Given the description of an element on the screen output the (x, y) to click on. 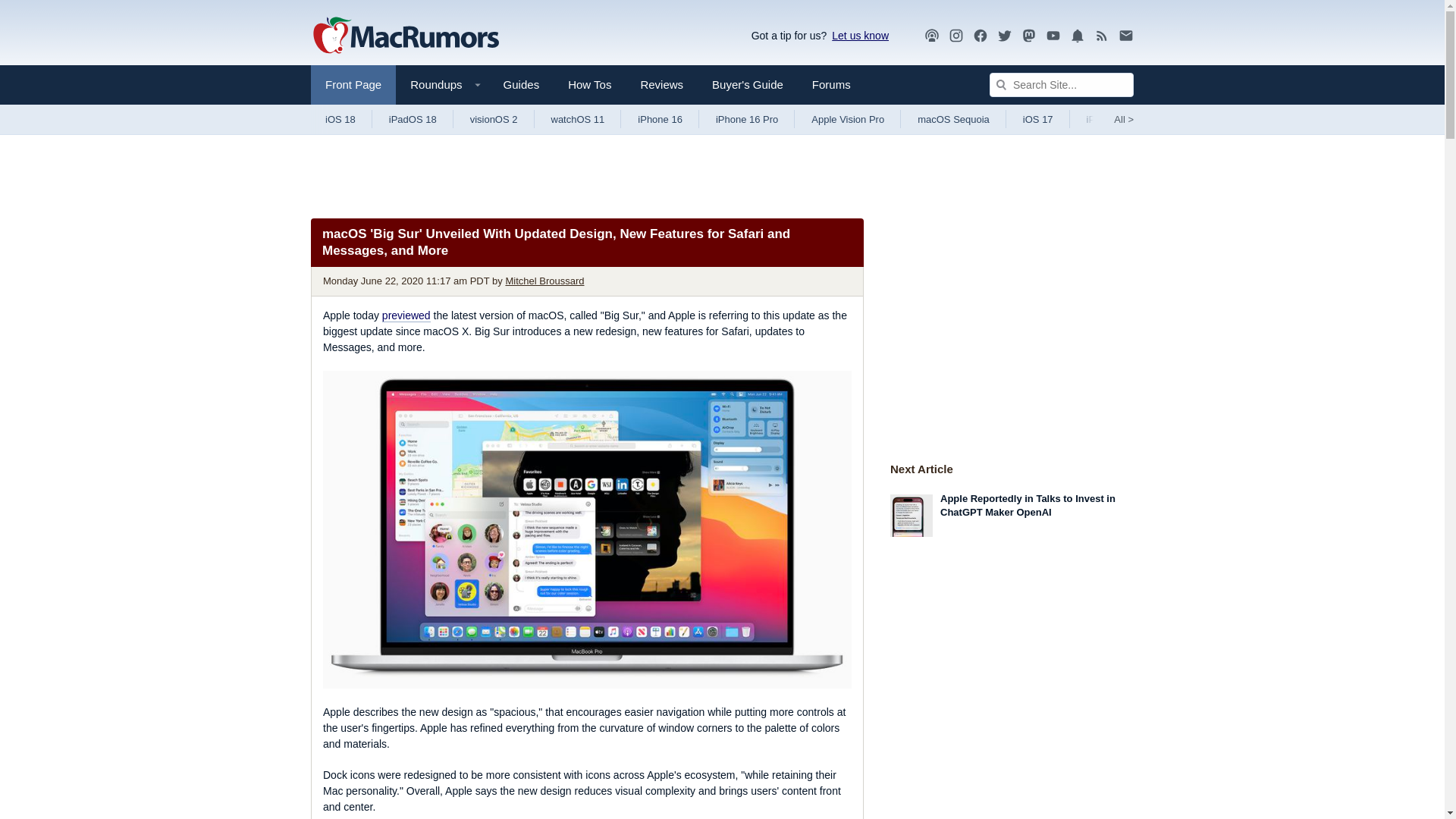
MacRumors Newsletter Signup (1126, 35)
Podcast (931, 35)
YouTube (1053, 35)
Forums (830, 84)
RSS (1101, 35)
Guides (521, 84)
Notifications (1077, 35)
MacRumors on Instagram (956, 35)
Newsletter (1126, 35)
Newsletter (1126, 35)
